Given the description of an element on the screen output the (x, y) to click on. 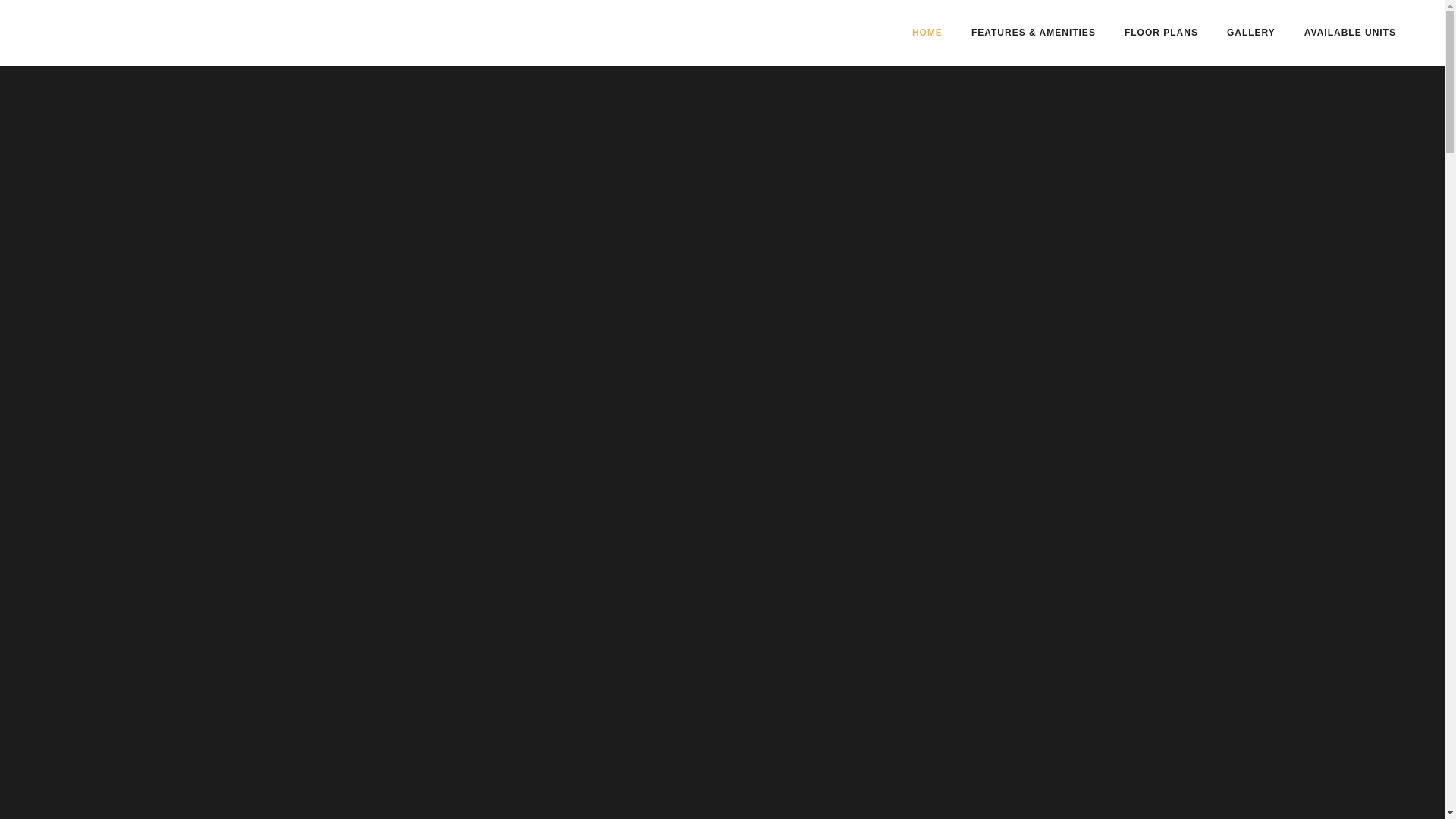
HOME (927, 33)
GALLERY (1251, 33)
AVAILABLE UNITS (1350, 33)
FLOOR PLANS (1160, 33)
